Given the description of an element on the screen output the (x, y) to click on. 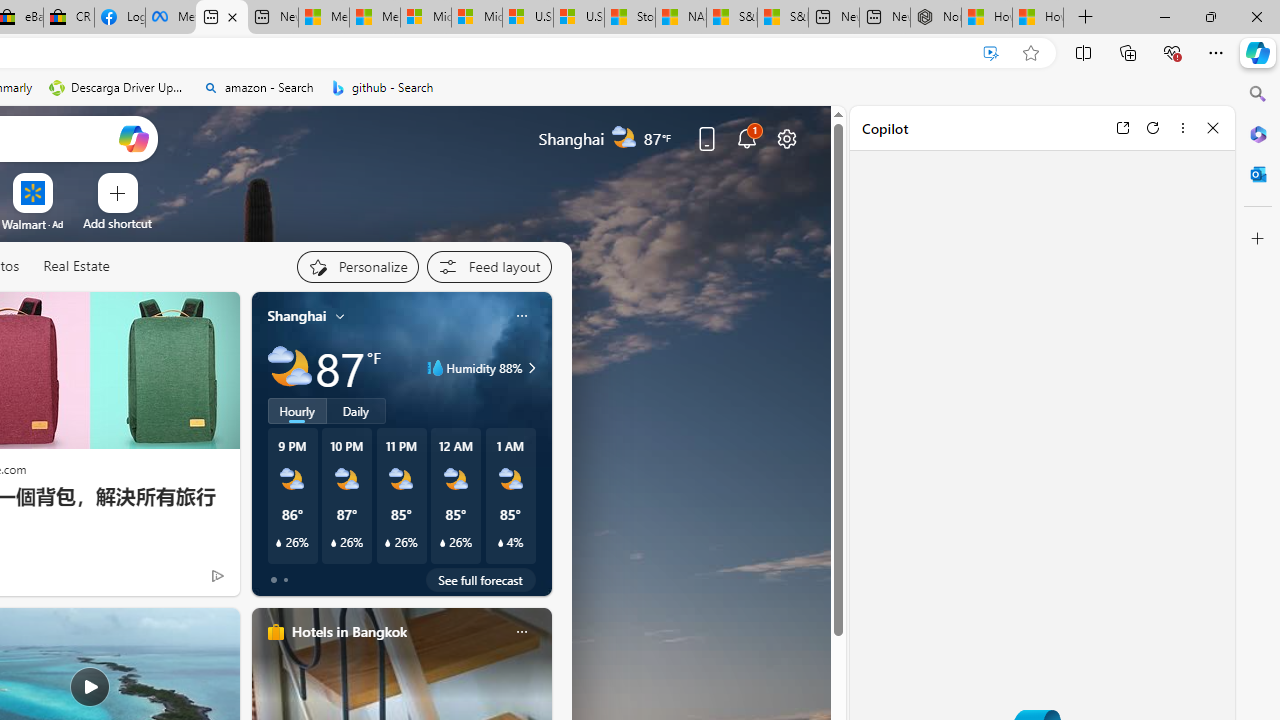
Split screen (1083, 52)
Close tab (232, 16)
Partly cloudy (289, 368)
Open Copilot (132, 138)
Settings and more (Alt+F) (1215, 52)
Personalize your feed" (356, 266)
Notifications (746, 138)
Class: weather-arrow-glyph (531, 367)
Hourly (296, 411)
Open link in new tab (1122, 127)
Outlook (1258, 174)
